Given the description of an element on the screen output the (x, y) to click on. 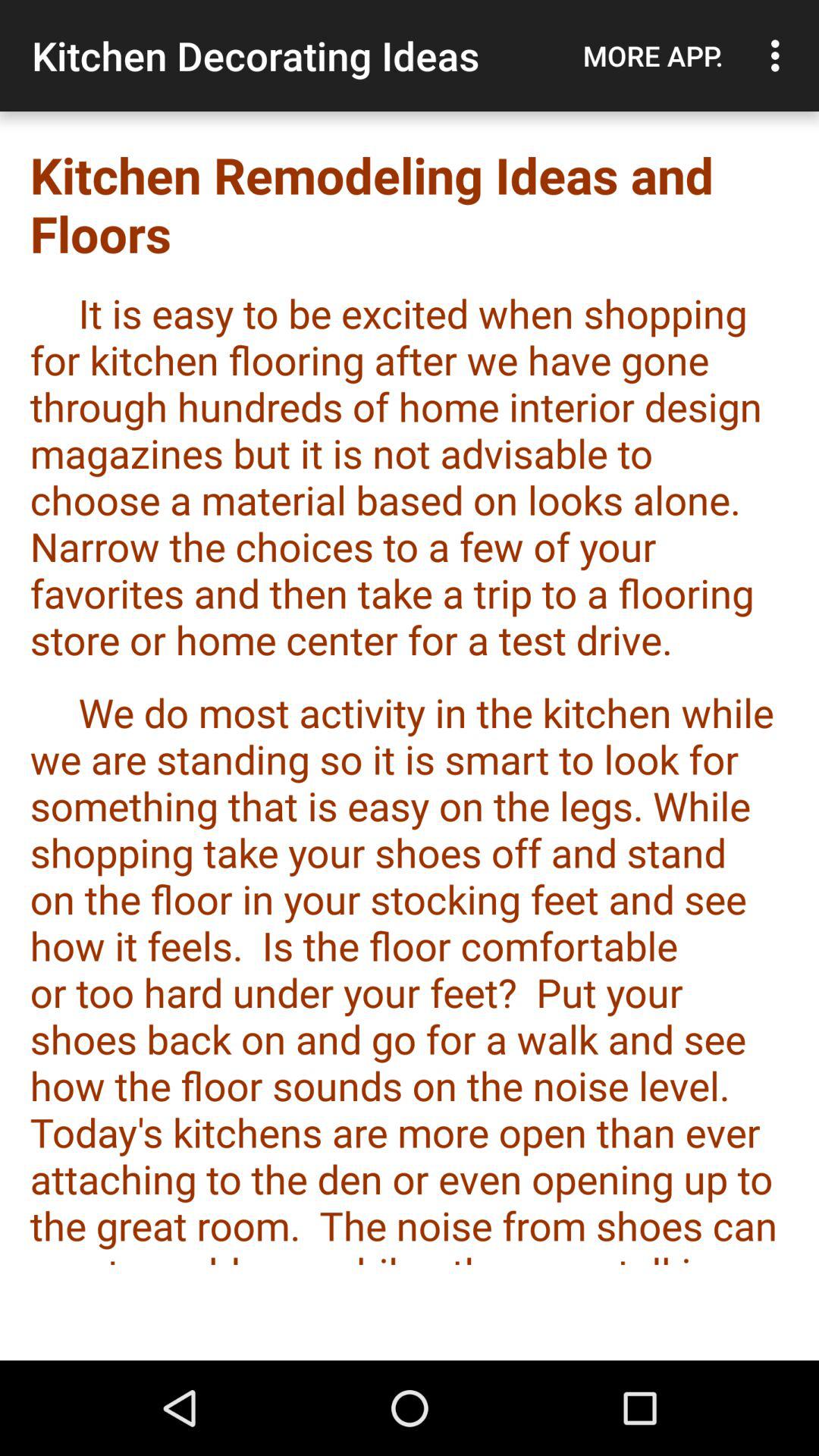
turn on more app. (653, 55)
